Given the description of an element on the screen output the (x, y) to click on. 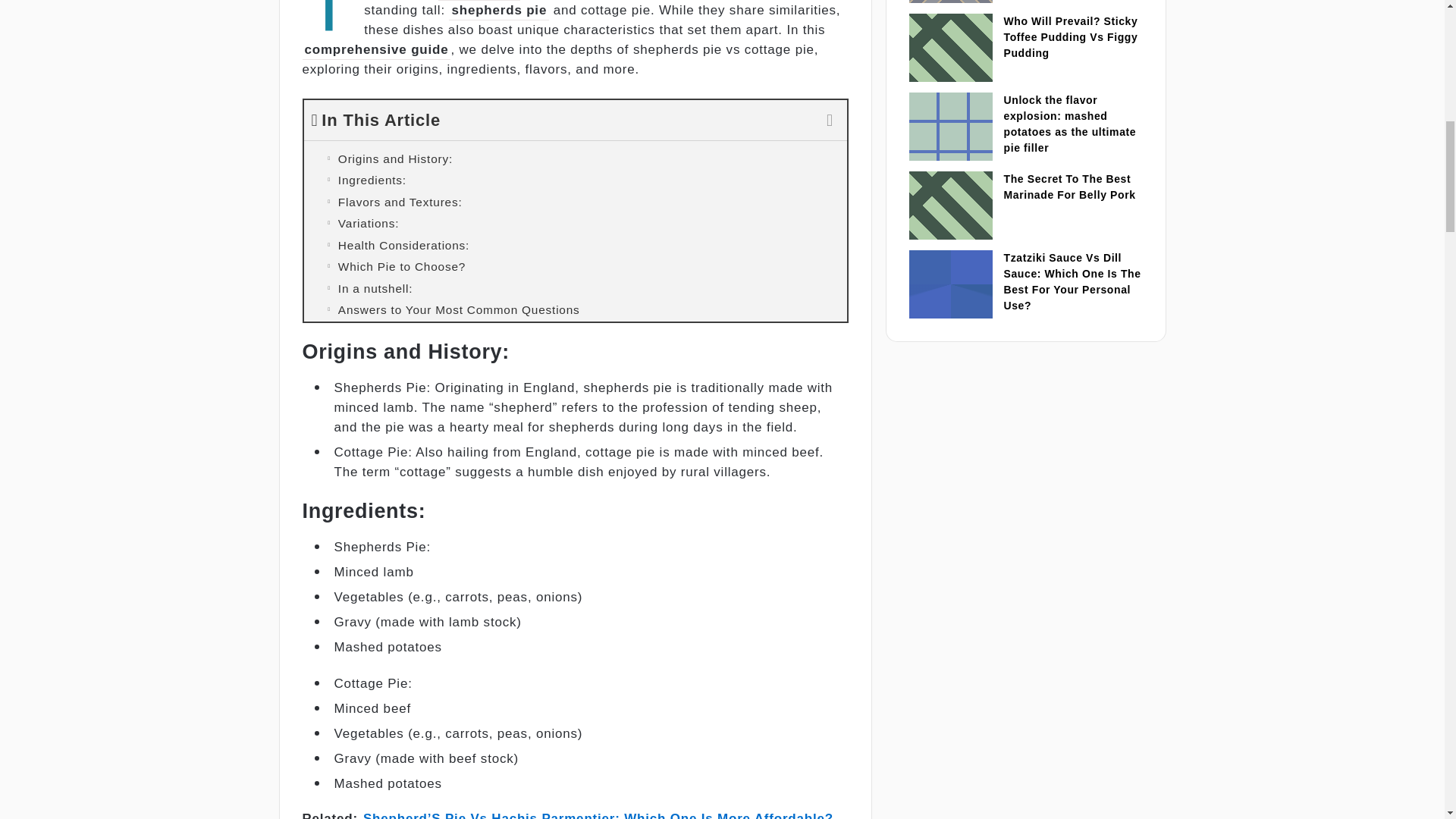
In a nutshell: (573, 288)
Health Considerations: (573, 245)
Ingredients: (573, 179)
Origins and History: (573, 158)
Answers to Your Most Common Questions (573, 310)
Flavors and Textures: (573, 201)
Variations: (573, 223)
Which Pie to Choose? (573, 266)
